Given the description of an element on the screen output the (x, y) to click on. 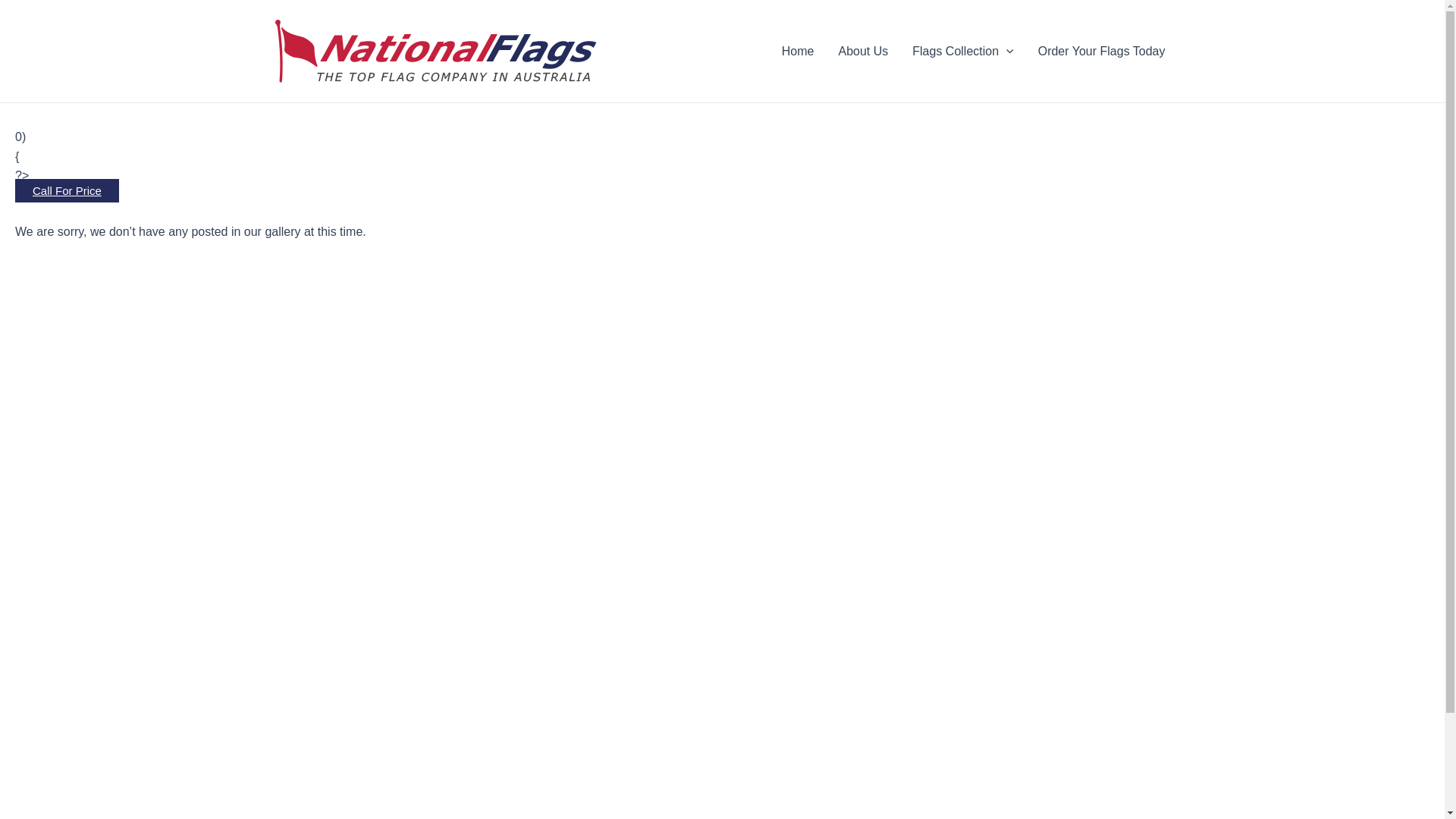
Order Your Flags Today Element type: text (1101, 51)
About Us Element type: text (862, 51)
Call For Price Element type: text (67, 190)
Home Element type: text (797, 51)
Flags Collection Element type: text (962, 51)
